Given the description of an element on the screen output the (x, y) to click on. 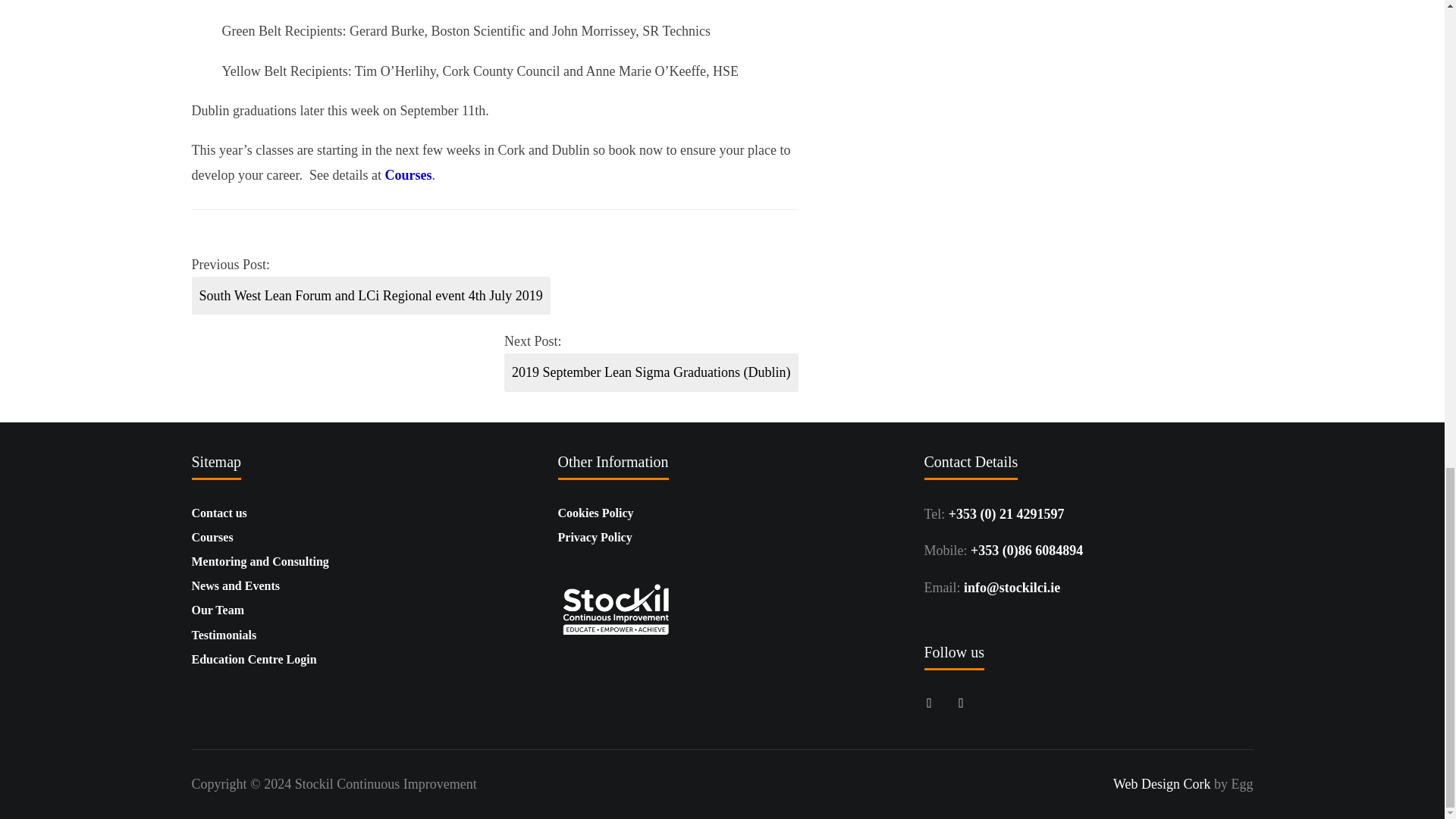
Education Centre Login (252, 658)
Courses (211, 536)
Contact us (218, 512)
Our Team (217, 609)
Mentoring and Consulting (259, 561)
Privacy Policy (594, 536)
twitter (960, 701)
Testimonials (223, 634)
Cookies Policy (595, 512)
Courses (407, 174)
